Given the description of an element on the screen output the (x, y) to click on. 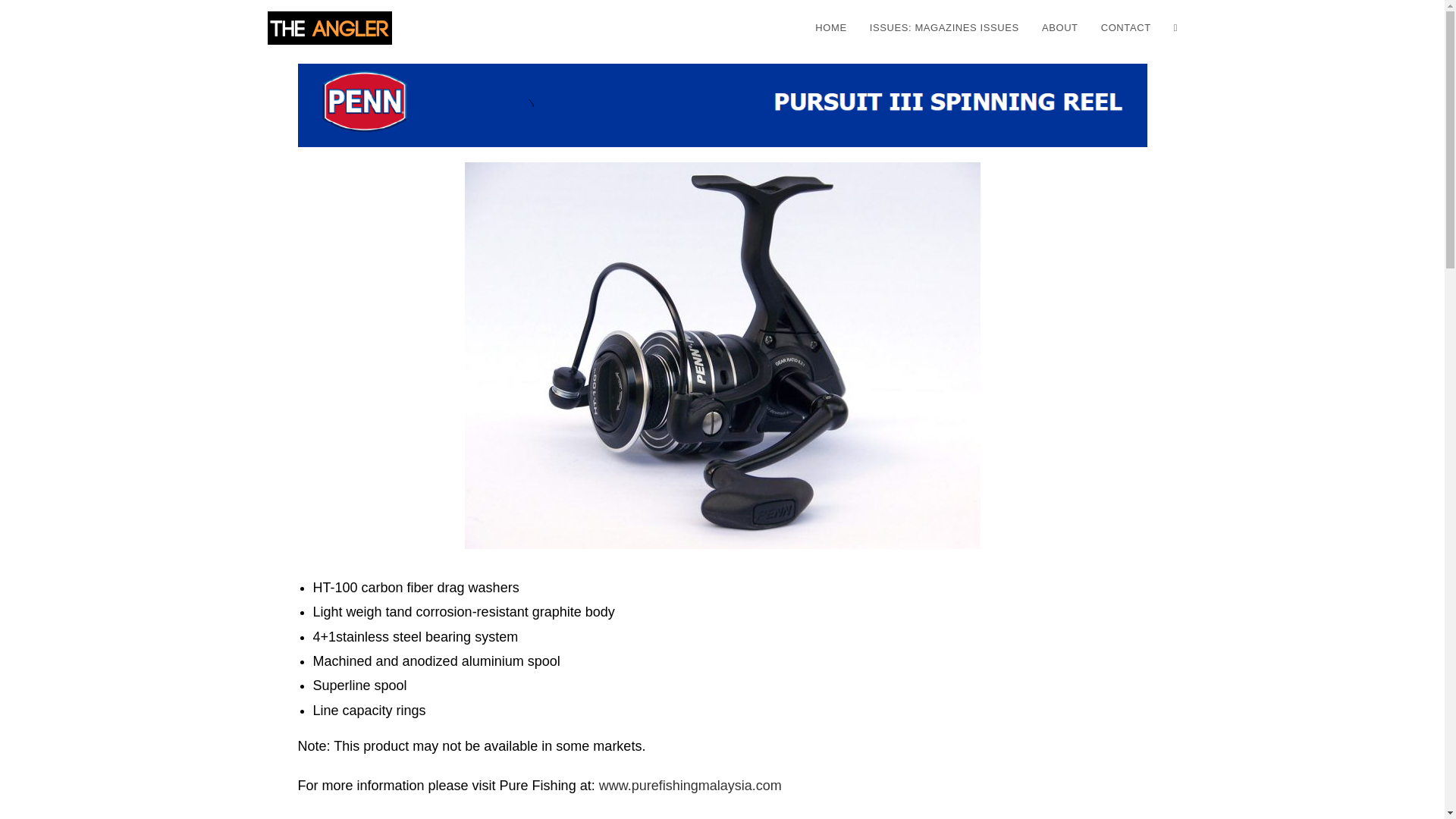
ISSUES: MAGAZINES ISSUES (944, 28)
HOME (830, 28)
CONTACT (1125, 28)
ABOUT (1059, 28)
www.purefishingmalaysia.com (689, 785)
